Given the description of an element on the screen output the (x, y) to click on. 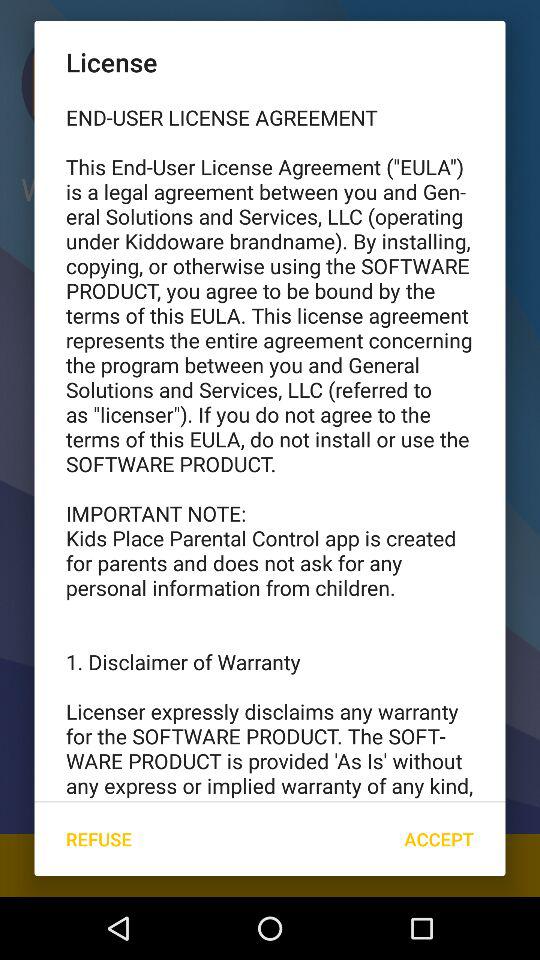
press icon to the left of accept (98, 838)
